Given the description of an element on the screen output the (x, y) to click on. 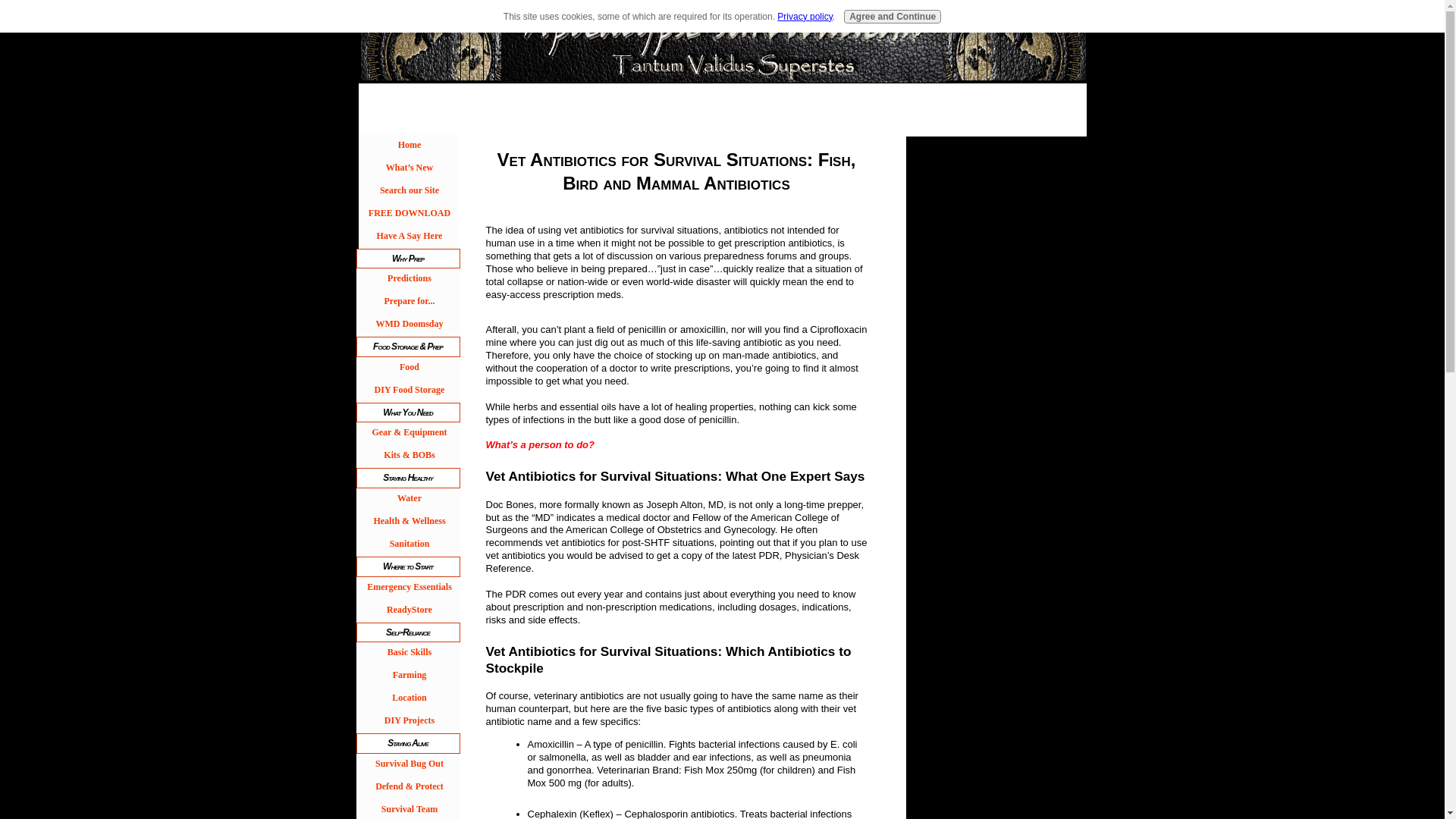
Search our Site (408, 191)
Home (408, 146)
WMD Doomsday (408, 324)
Have A Say Here (408, 237)
Survival Team (408, 809)
Basic Skills (408, 653)
DIY Food Storage (408, 391)
Sanitation (408, 544)
DIY Projects (408, 721)
Location (408, 698)
FREE DOWNLOAD (408, 214)
Predictions (408, 279)
Survival Bug Out (408, 764)
Farming (408, 676)
Advertisement (662, 94)
